Given the description of an element on the screen output the (x, y) to click on. 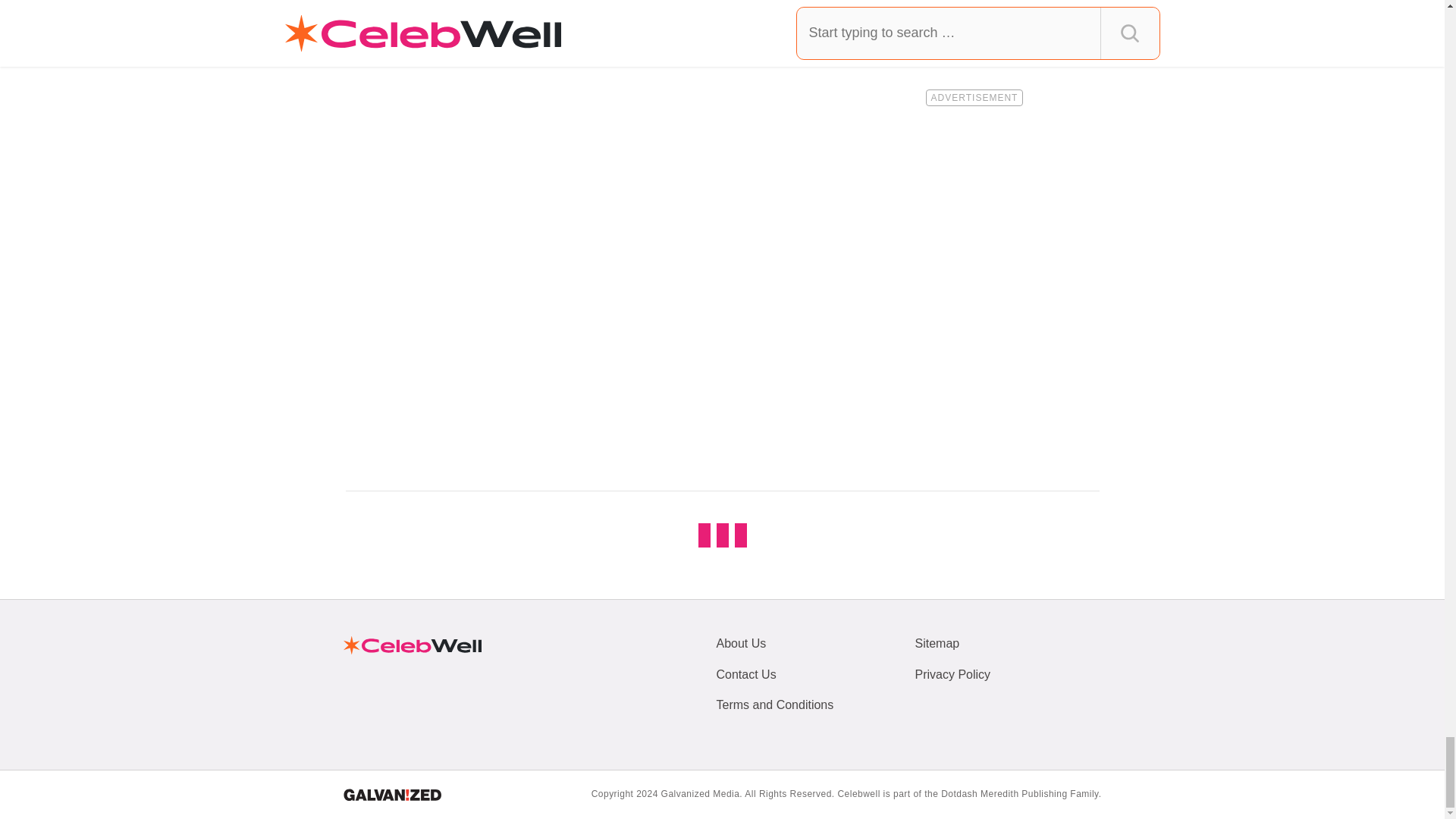
Homepage of Celebwell (411, 644)
Galvanized Media Logo (391, 794)
